Given the description of an element on the screen output the (x, y) to click on. 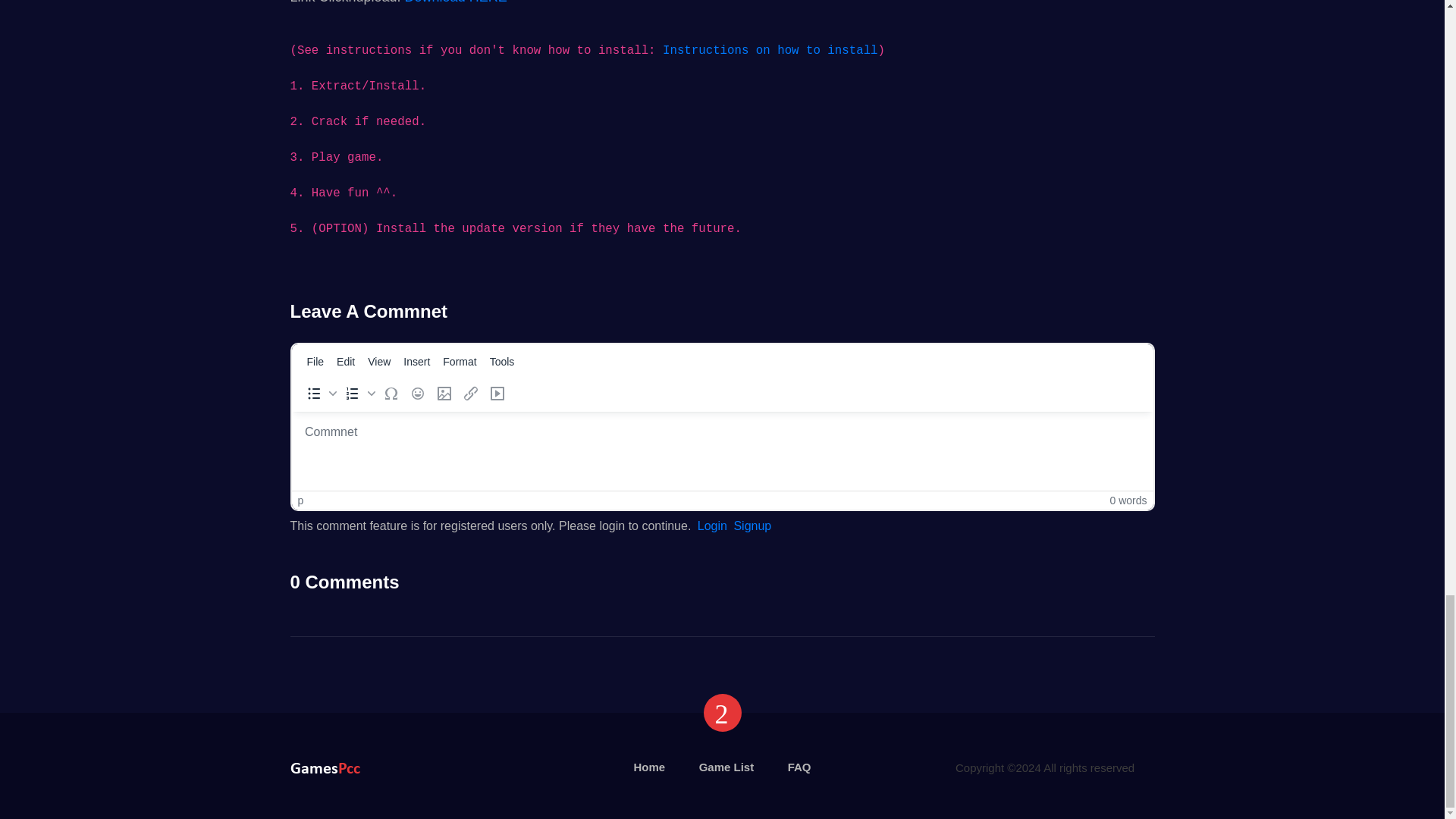
Special character (390, 393)
Emojis (417, 393)
Bullet list (318, 393)
Rich Text Area (722, 450)
Numbered list (358, 393)
